Given the description of an element on the screen output the (x, y) to click on. 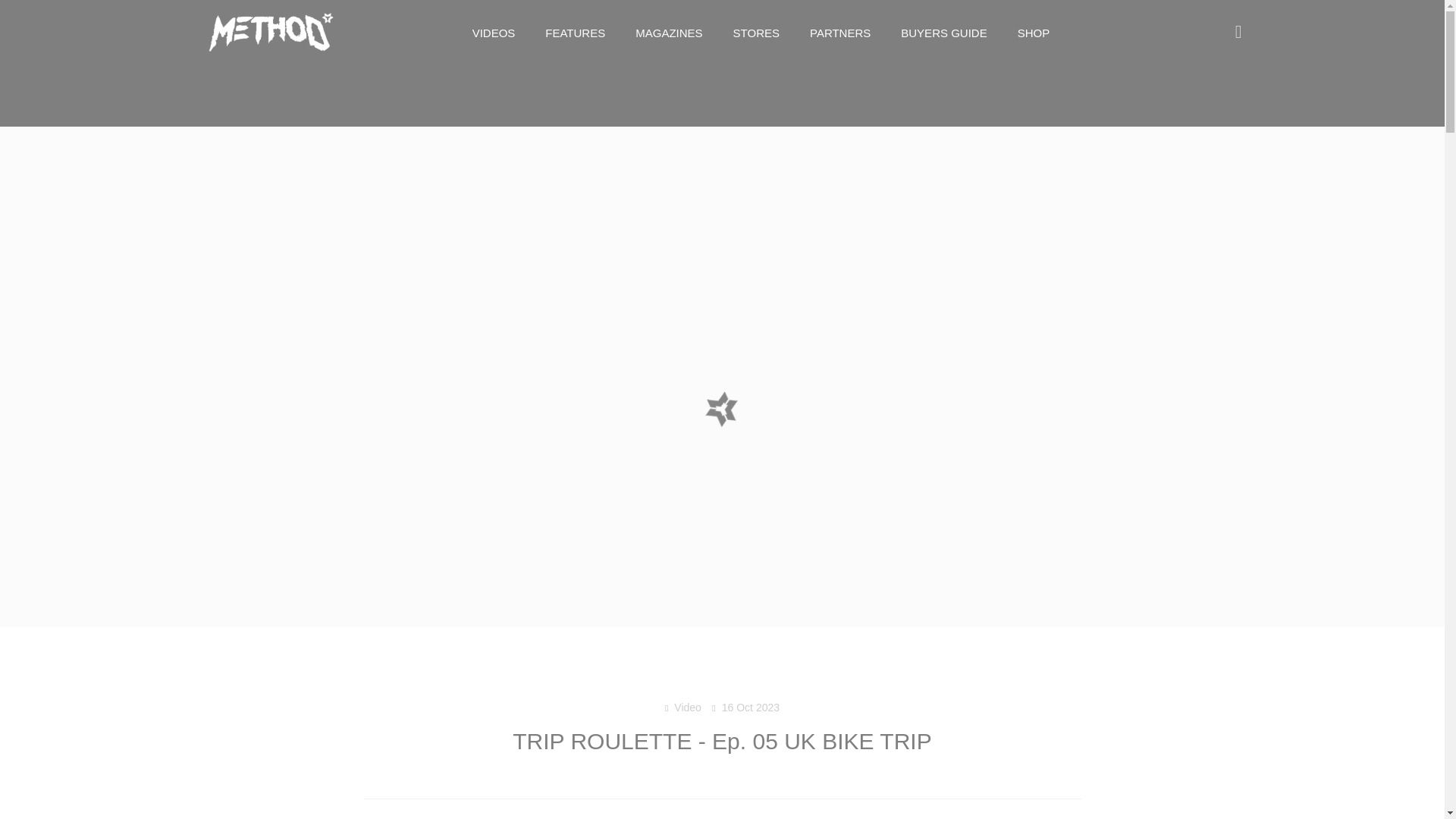
MAGAZINES (668, 33)
PARTNERS (839, 33)
Search (1230, 33)
BUYERS GUIDE (943, 33)
VIDEOS (494, 33)
FEATURES (574, 33)
SHOP (1034, 33)
STORES (755, 33)
